Given the description of an element on the screen output the (x, y) to click on. 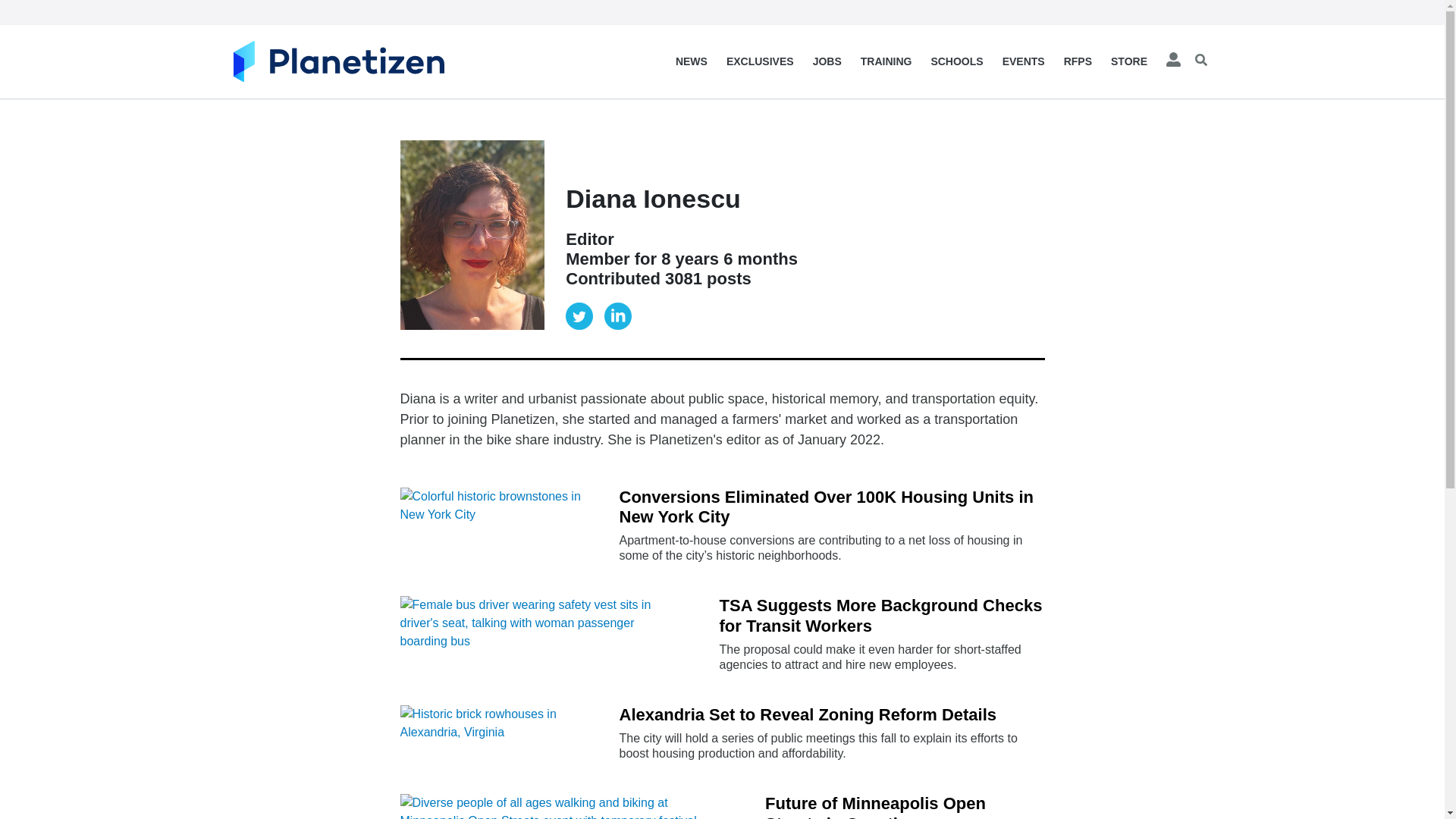
JOBS (826, 60)
Home (338, 60)
STORE (1129, 60)
EXCLUSIVES (759, 60)
Twitter (579, 315)
RFPS (1077, 60)
User Login (1174, 60)
Future of Minneapolis Open Streets in Question (904, 806)
